Given the description of an element on the screen output the (x, y) to click on. 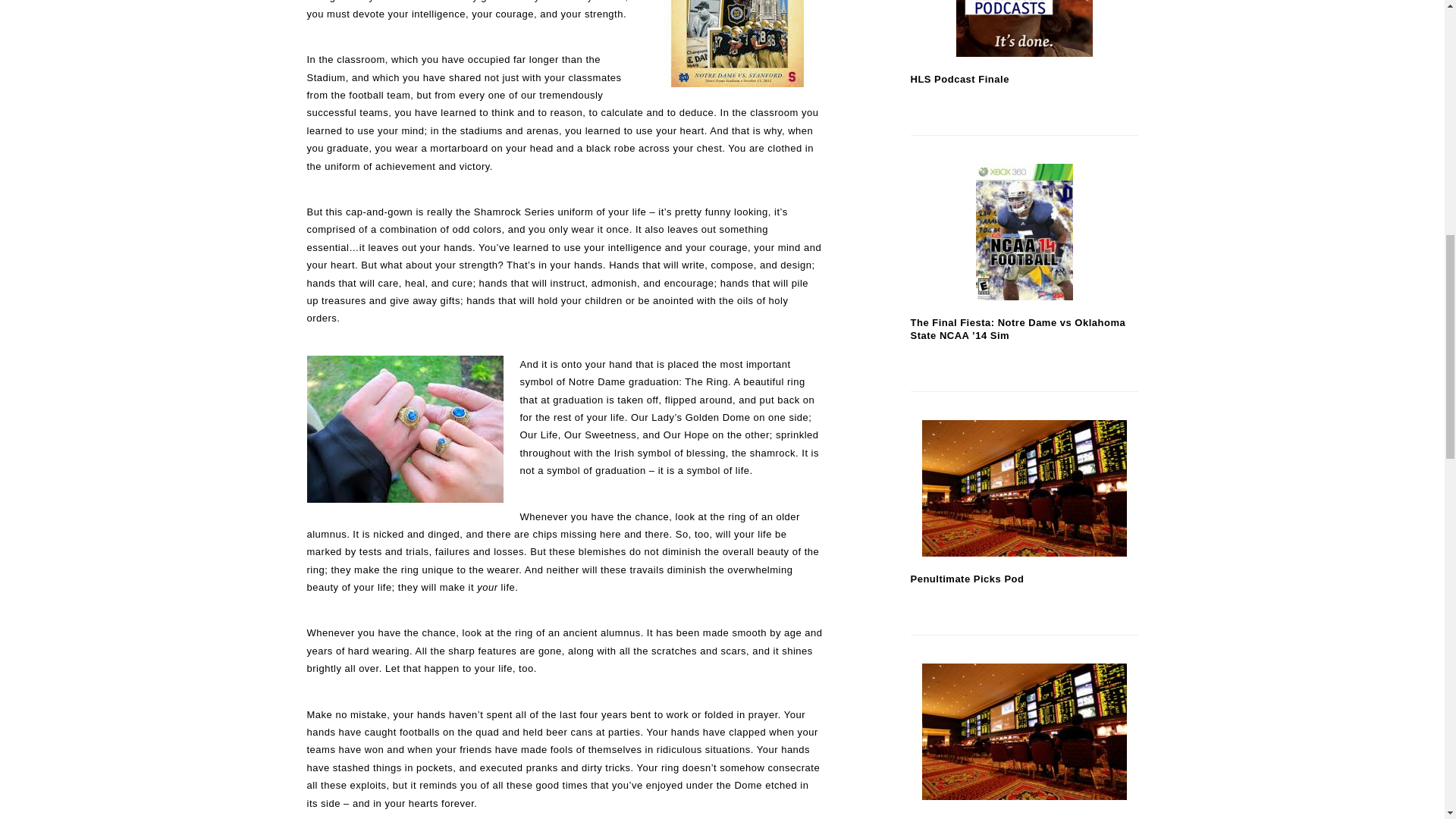
HLS Podcast Finale (1023, 28)
2021 Bowl Picks: Week 2 (1023, 731)
Penultimate Picks Pod (1023, 488)
